Given the description of an element on the screen output the (x, y) to click on. 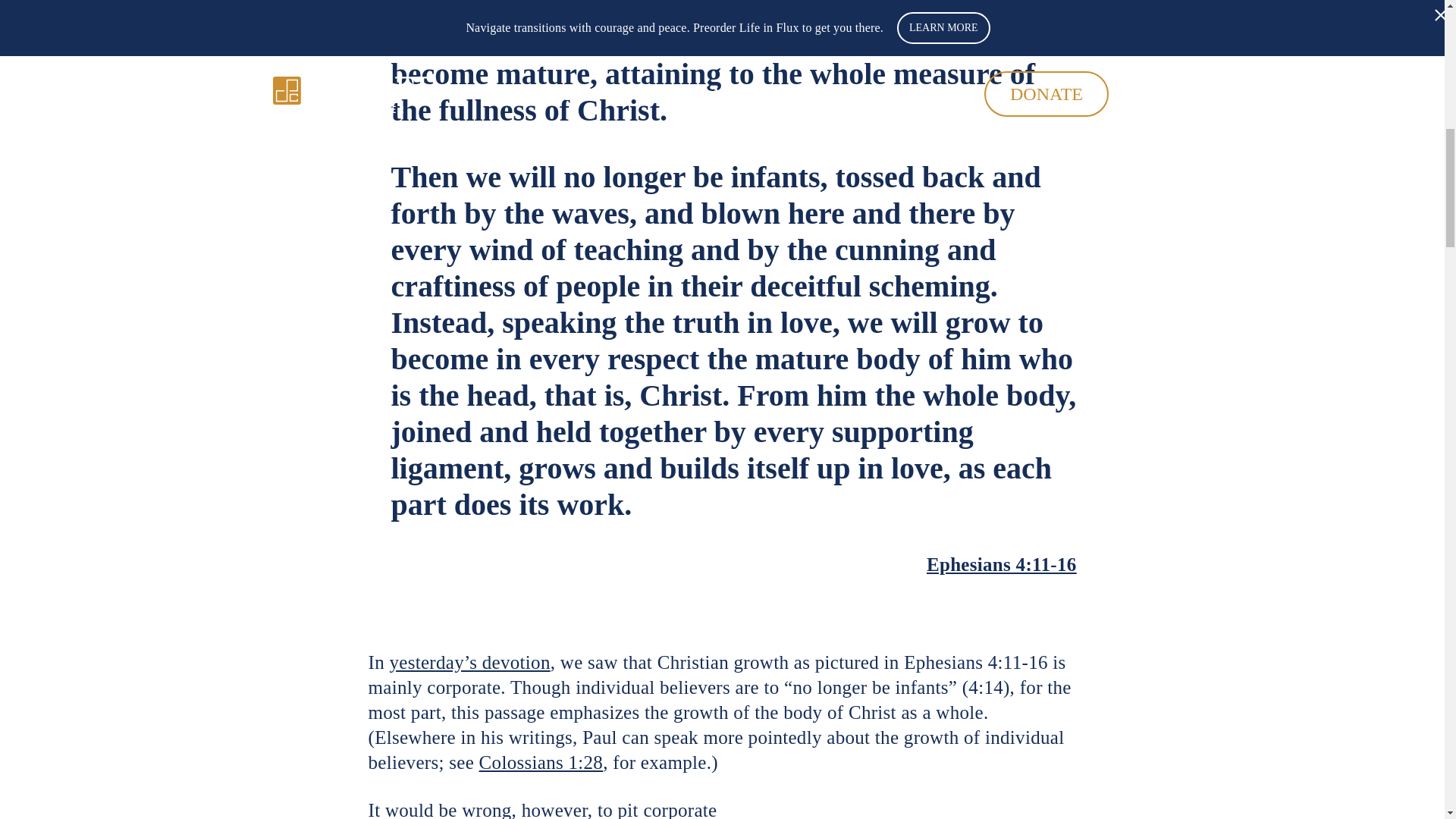
Ephesians 4:11-16 (1001, 564)
Colossians 1:28 (541, 762)
